Given the description of an element on the screen output the (x, y) to click on. 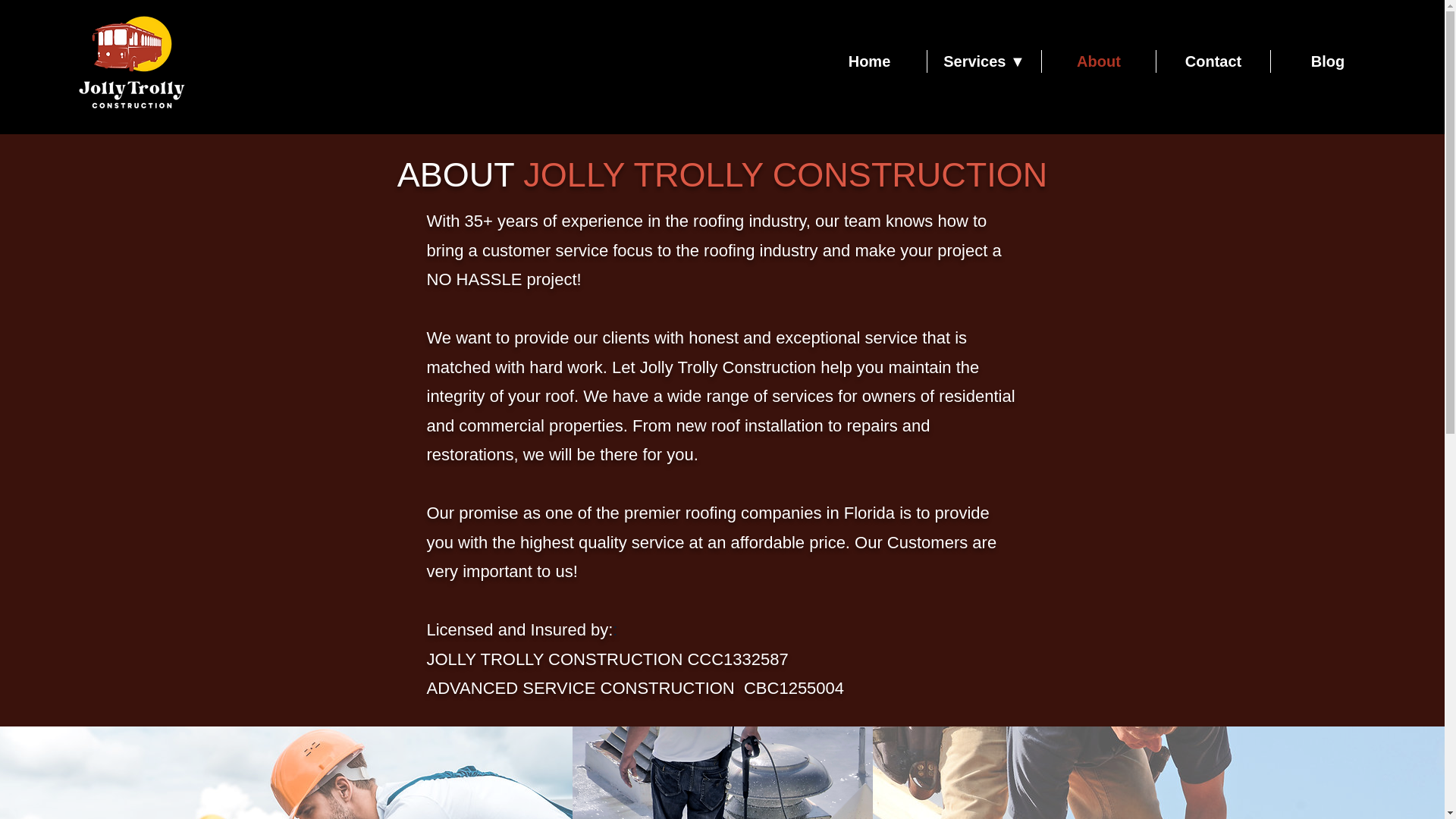
Contact (1212, 60)
Home (869, 60)
About (1099, 60)
Blog (1327, 60)
